Given the description of an element on the screen output the (x, y) to click on. 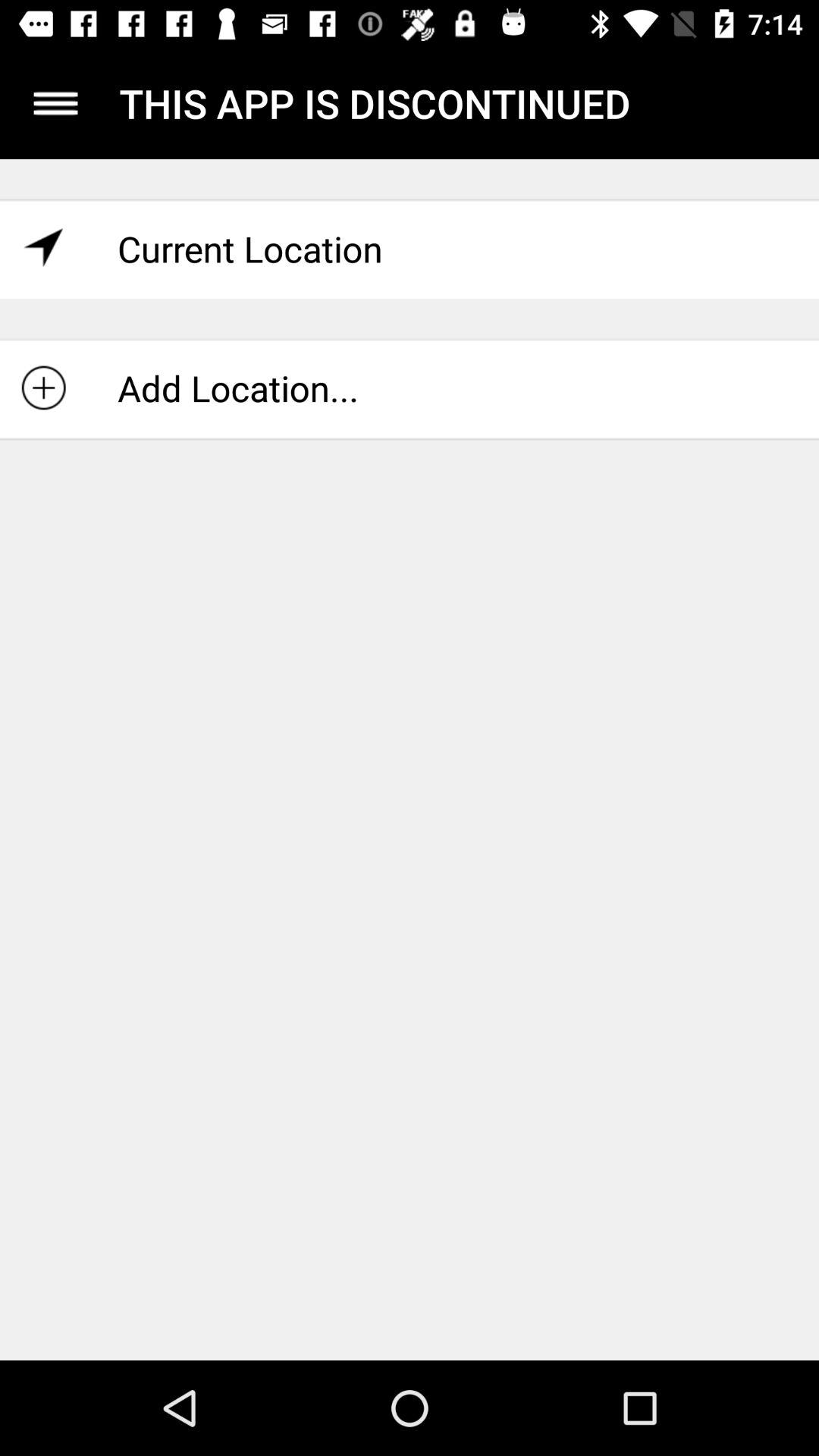
menu selection (55, 103)
